Given the description of an element on the screen output the (x, y) to click on. 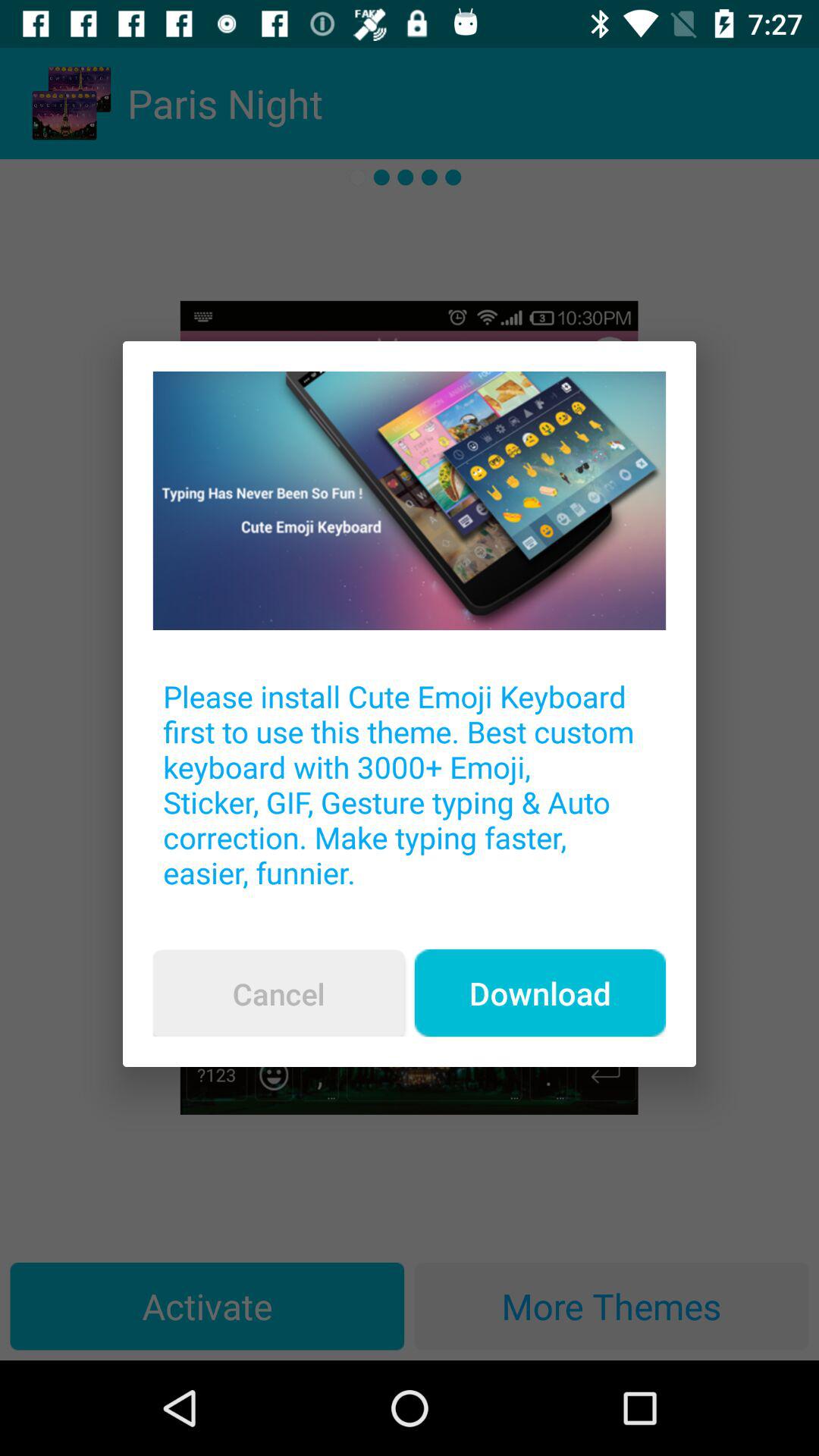
choose the item below the please install cute (540, 992)
